Given the description of an element on the screen output the (x, y) to click on. 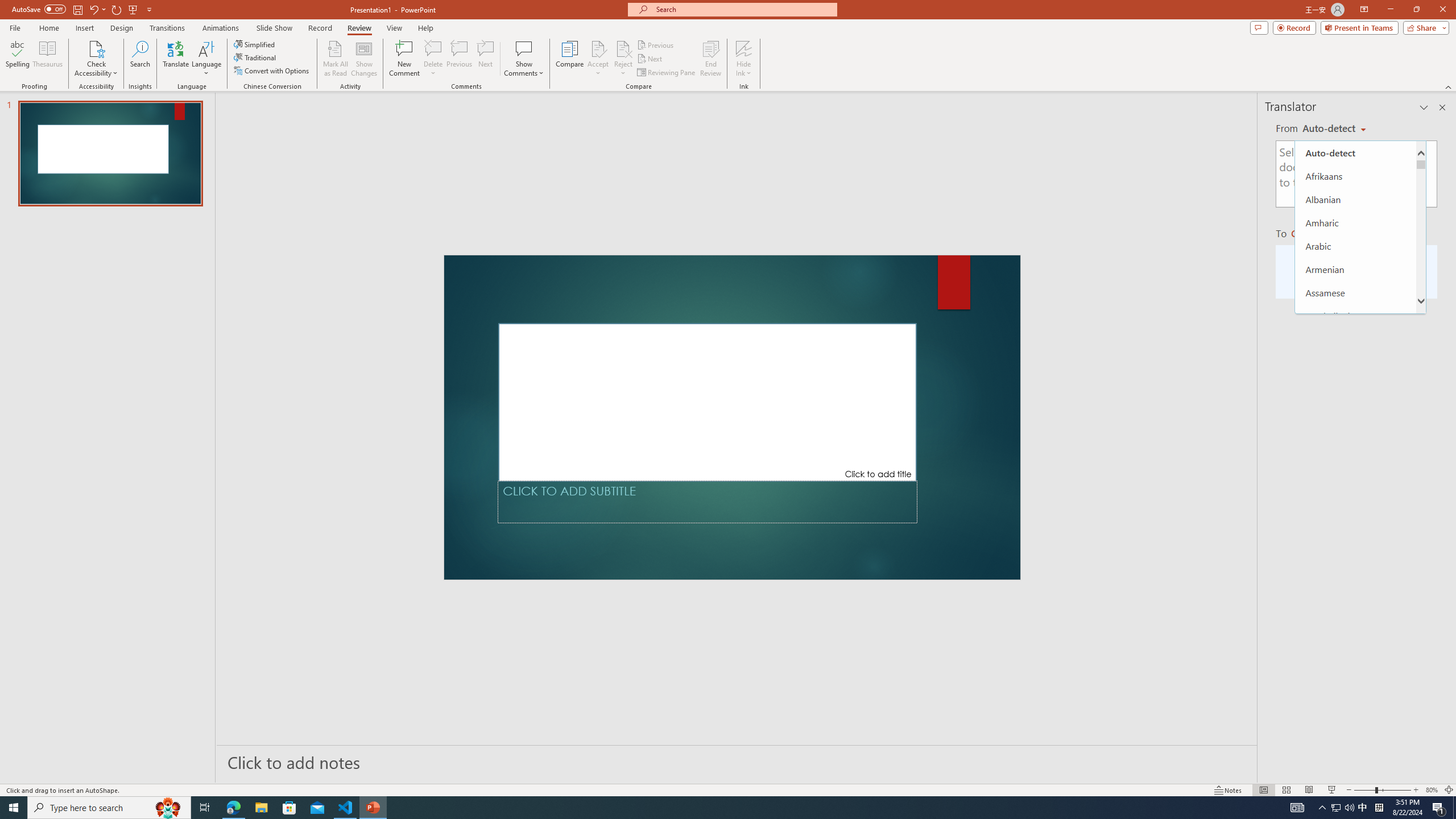
Albanian (1355, 199)
Divehi (1355, 734)
Thesaurus... (47, 58)
Amharic (1355, 222)
